Given the description of an element on the screen output the (x, y) to click on. 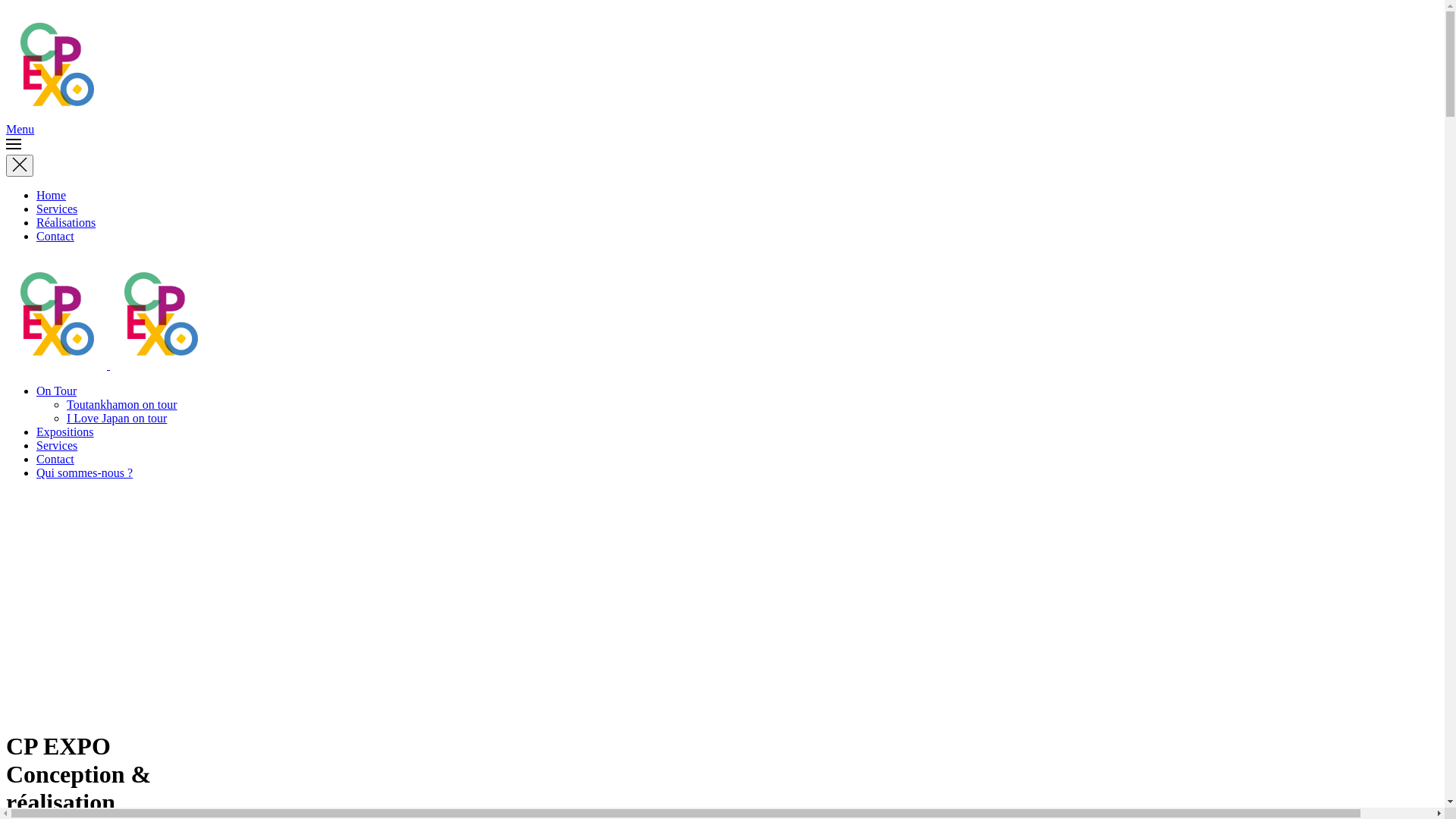
On Tour Element type: text (56, 390)
Services Element type: text (56, 445)
Expositions Element type: text (65, 431)
Home Element type: text (50, 194)
Contact Element type: text (55, 235)
Toutankhamon on tour Element type: text (121, 404)
Contact Element type: text (55, 458)
Services Element type: text (56, 208)
Qui sommes-nous ? Element type: text (84, 472)
I Love Japan on tour Element type: text (116, 417)
